Given the description of an element on the screen output the (x, y) to click on. 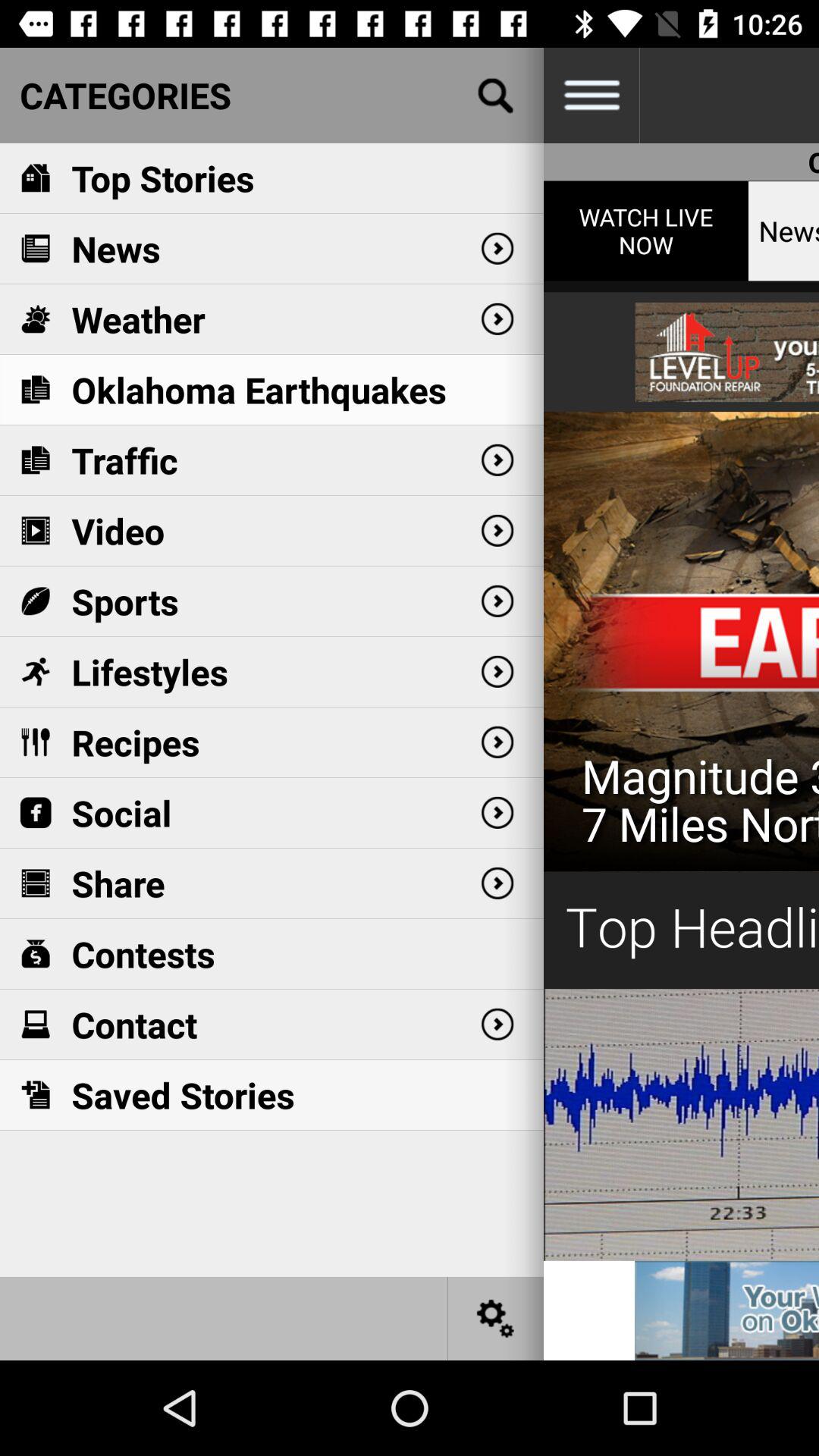
setting button (495, 1318)
